Given the description of an element on the screen output the (x, y) to click on. 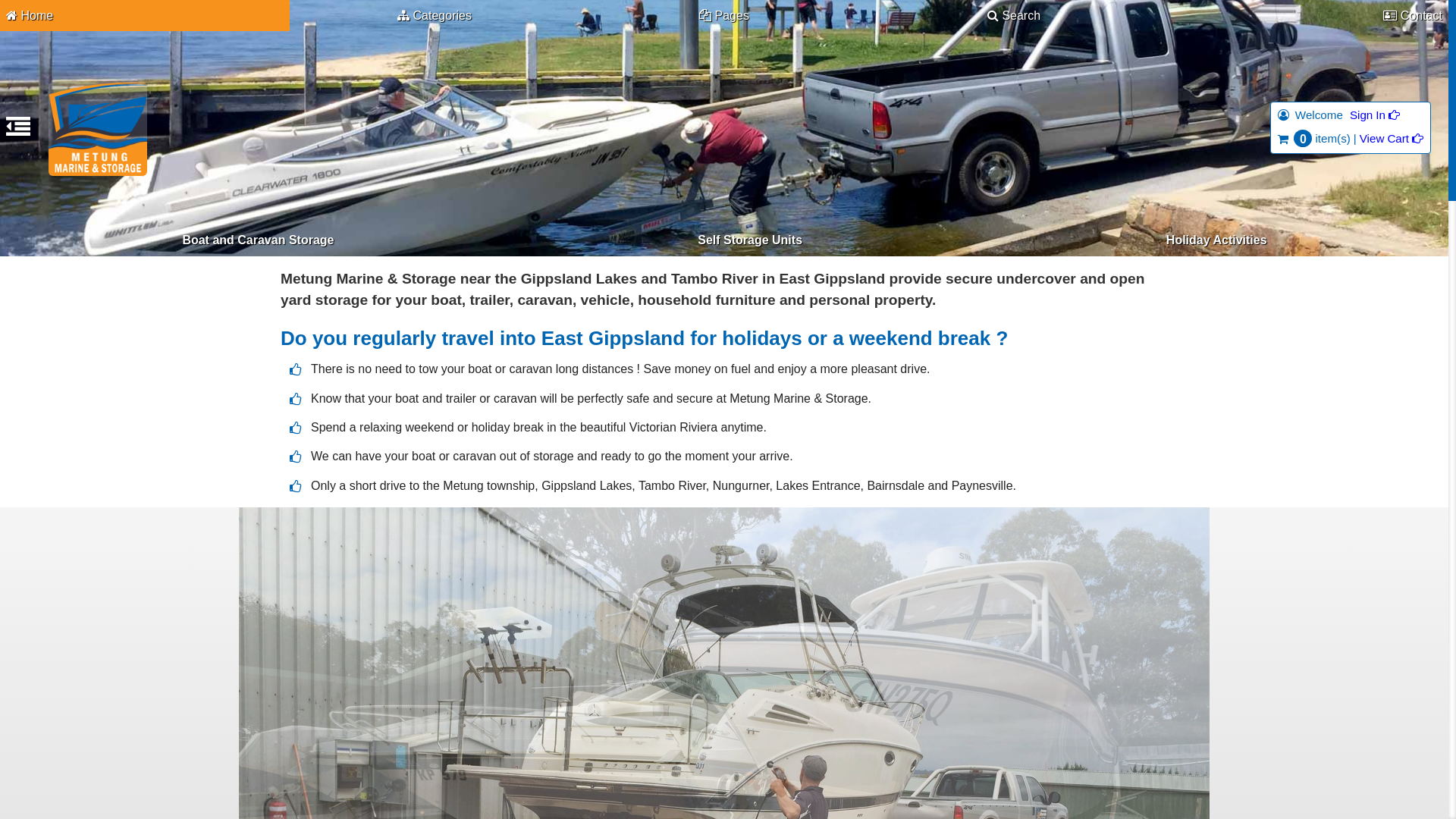
Toggle Menu Sidebar Element type: hover (18, 131)
Pages Element type: text (724, 15)
Categories Element type: text (434, 15)
Search Element type: text (1013, 15)
Contact Element type: text (1303, 15)
Holiday Activities Element type: text (1216, 239)
Boat and Caravan Storage Element type: text (257, 239)
Home Element type: text (144, 15)
View home page Element type: hover (97, 128)
Self Storage Units Element type: text (749, 239)
